Given the description of an element on the screen output the (x, y) to click on. 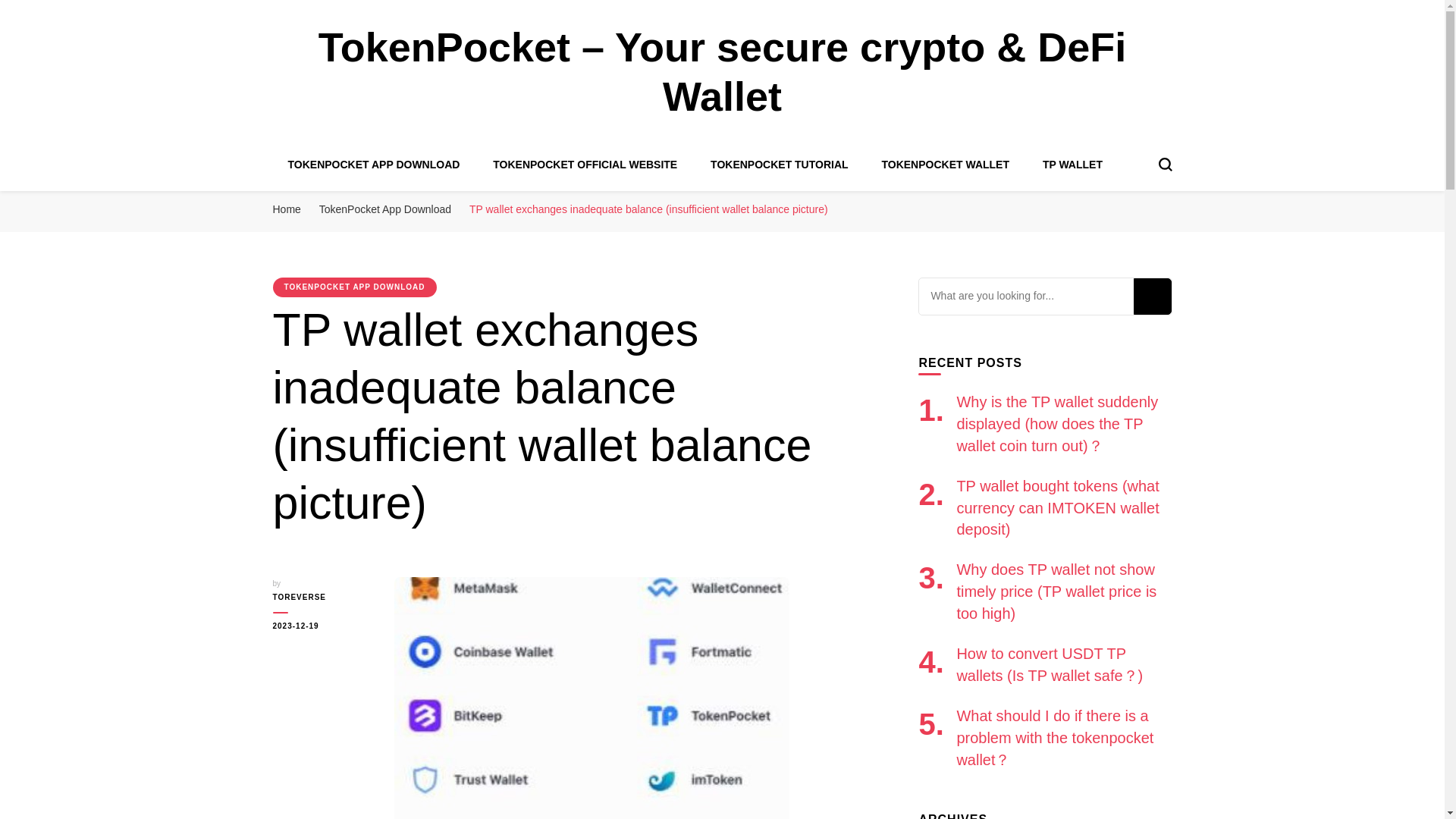
TOKENPOCKET WALLET (944, 164)
TOKENPOCKET APP DOWNLOAD (354, 287)
TP WALLET (1072, 164)
TOREVERSE (322, 597)
TokenPocket App Download (384, 209)
TOKENPOCKET OFFICIAL WEBSITE (585, 164)
Home (287, 209)
TOKENPOCKET APP DOWNLOAD (374, 164)
Search (1151, 296)
Search (1151, 296)
